Given the description of an element on the screen output the (x, y) to click on. 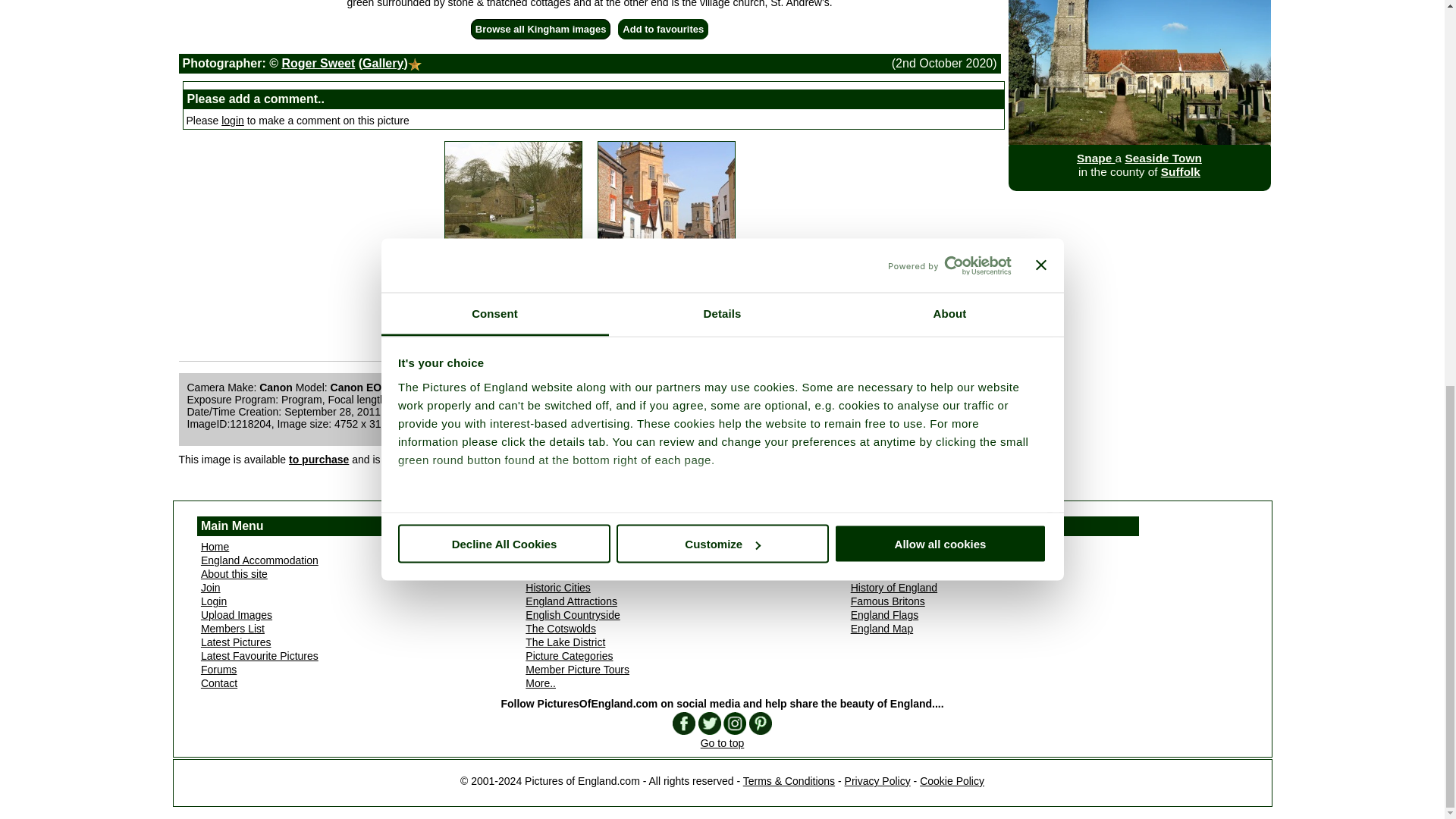
Click to buy this photo of Kingham (318, 459)
Oxfordshire (665, 281)
Village Scenes (513, 281)
